Given the description of an element on the screen output the (x, y) to click on. 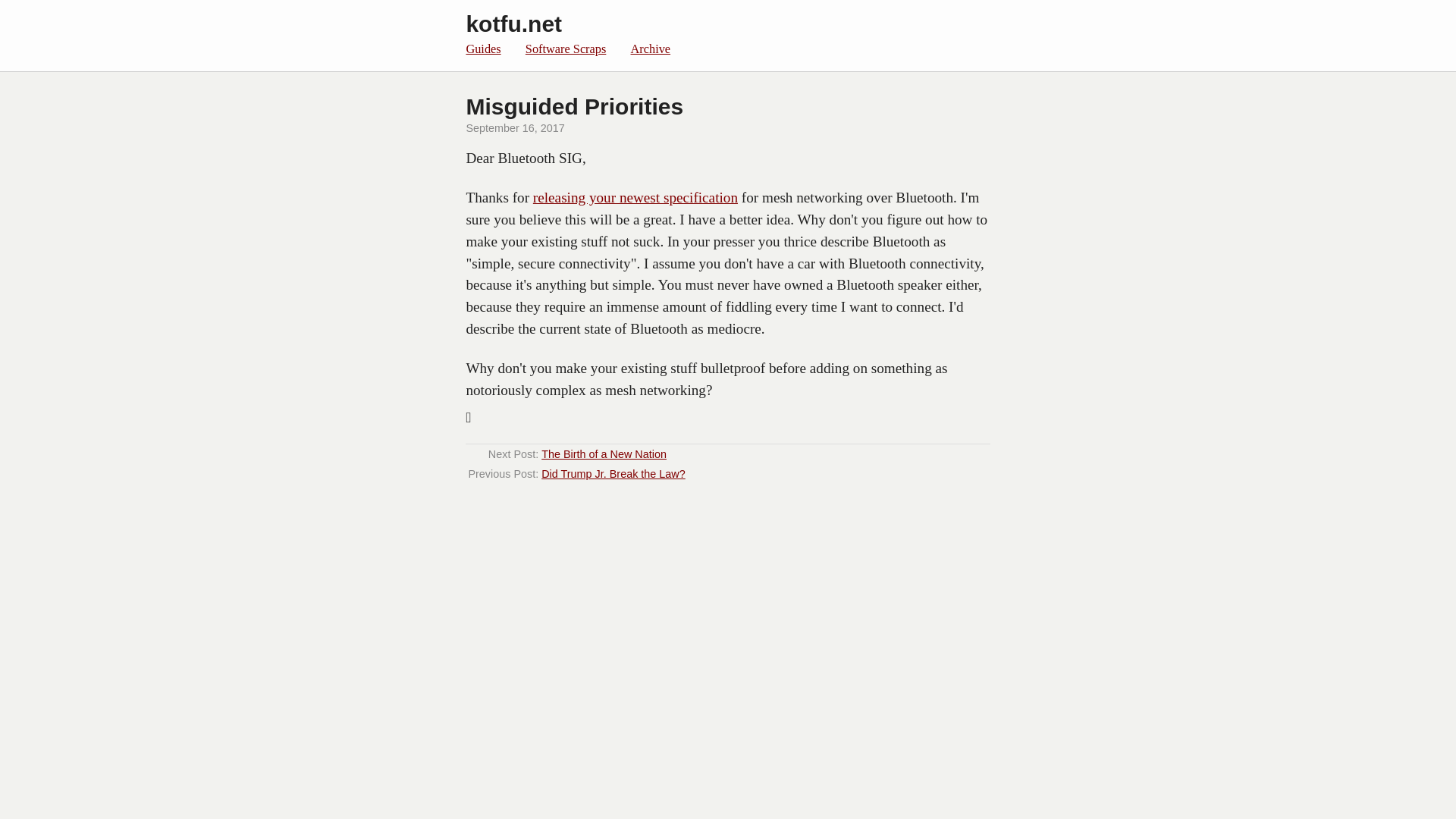
Software Scraps (565, 48)
The Birth of a New Nation (603, 453)
kotfu.net (513, 23)
releasing your newest specification (635, 197)
Guides (482, 48)
Did Trump Jr. Break the Law? (613, 473)
Archive (650, 48)
